Given the description of an element on the screen output the (x, y) to click on. 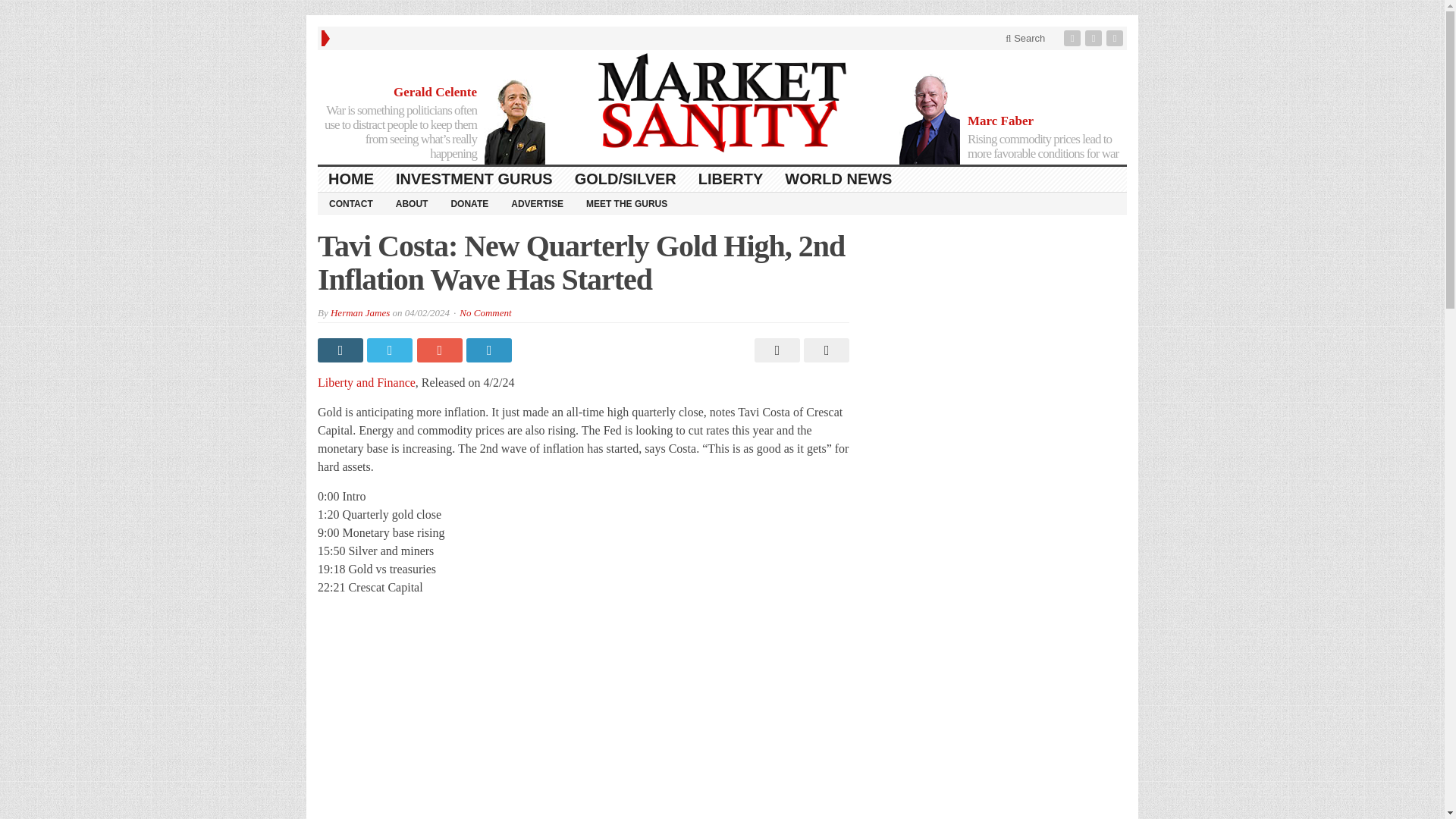
Gerald Celente (435, 92)
Site feed (1115, 37)
Marc Faber (1000, 120)
HOME (351, 179)
INVESTMENT GURUS (474, 179)
The Truth About Our Markets (722, 102)
Search (1024, 37)
Facebook (1073, 37)
Twitter (1094, 37)
